Given the description of an element on the screen output the (x, y) to click on. 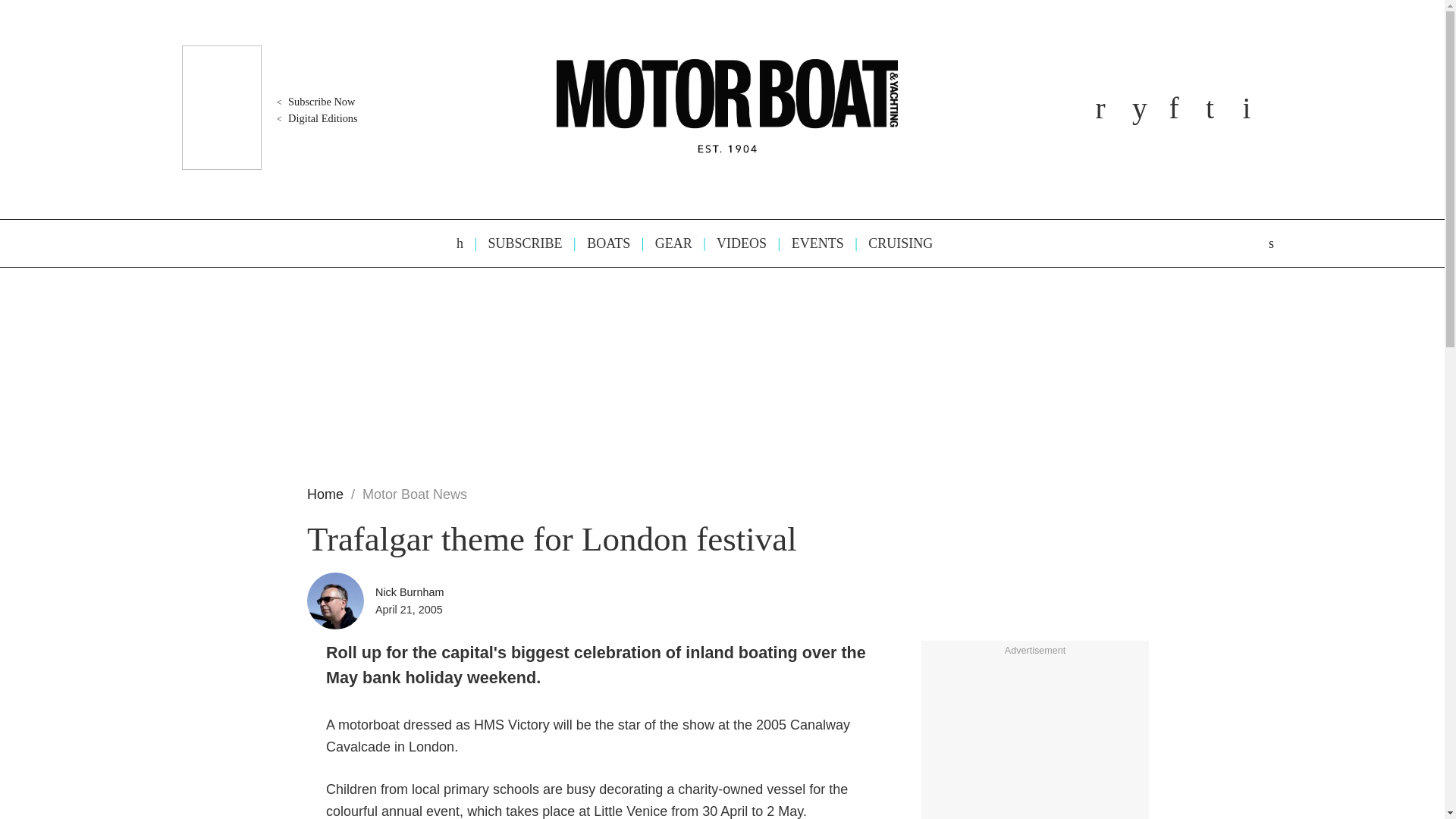
Digital Editions (315, 118)
Subscribe Now (314, 101)
GEAR (666, 243)
SUBSCRIBE (518, 243)
BOATS (601, 243)
VIDEOS (734, 243)
CRUISING (893, 243)
EVENTS (810, 243)
